Given the description of an element on the screen output the (x, y) to click on. 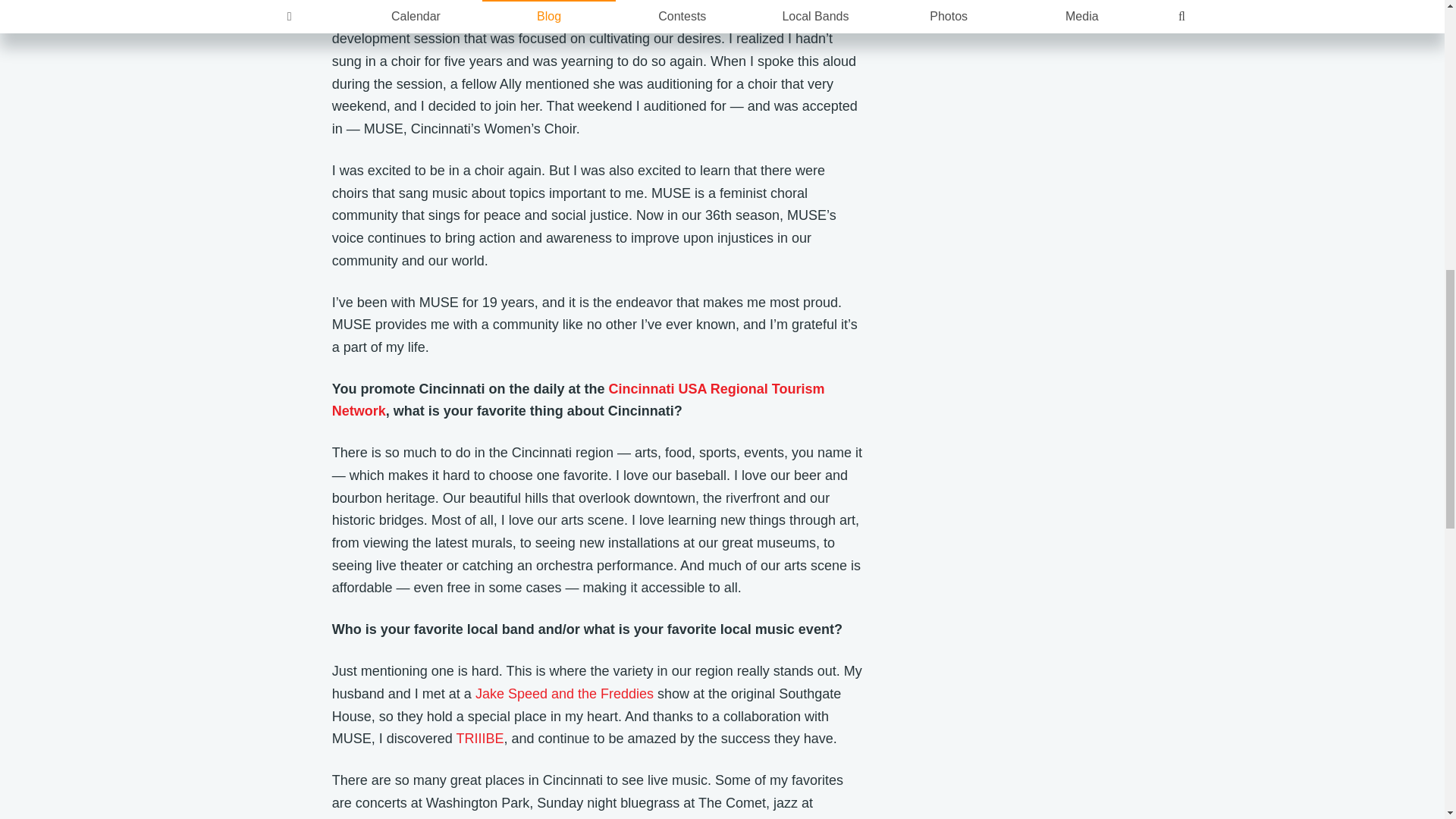
Cincinnati USA Regional Tourism Network (578, 400)
Jake Speed and the Freddies (564, 693)
TRIIIBE (479, 738)
